Given the description of an element on the screen output the (x, y) to click on. 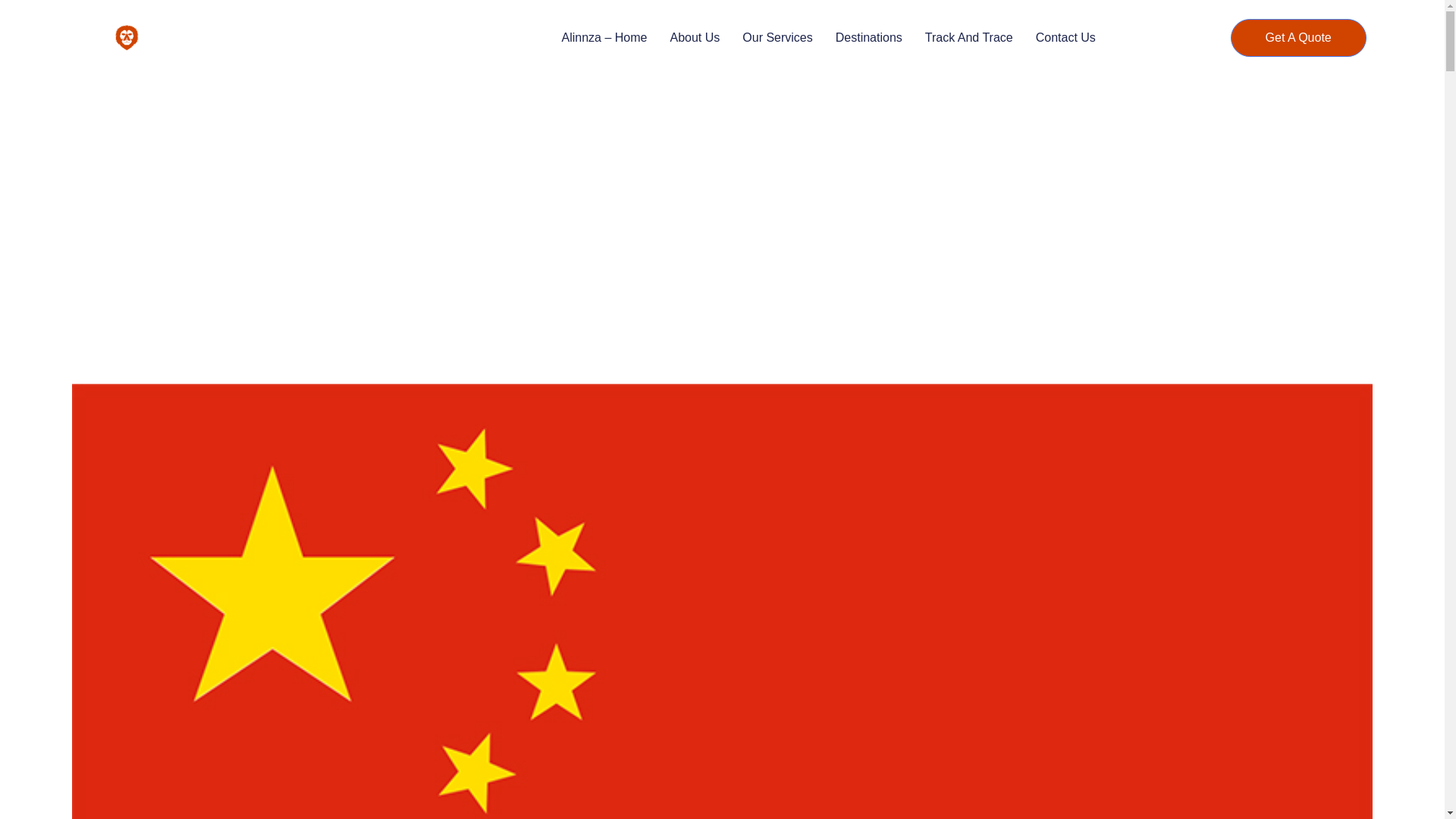
Destinations (868, 37)
About Us (694, 37)
Our Services (777, 37)
